Given the description of an element on the screen output the (x, y) to click on. 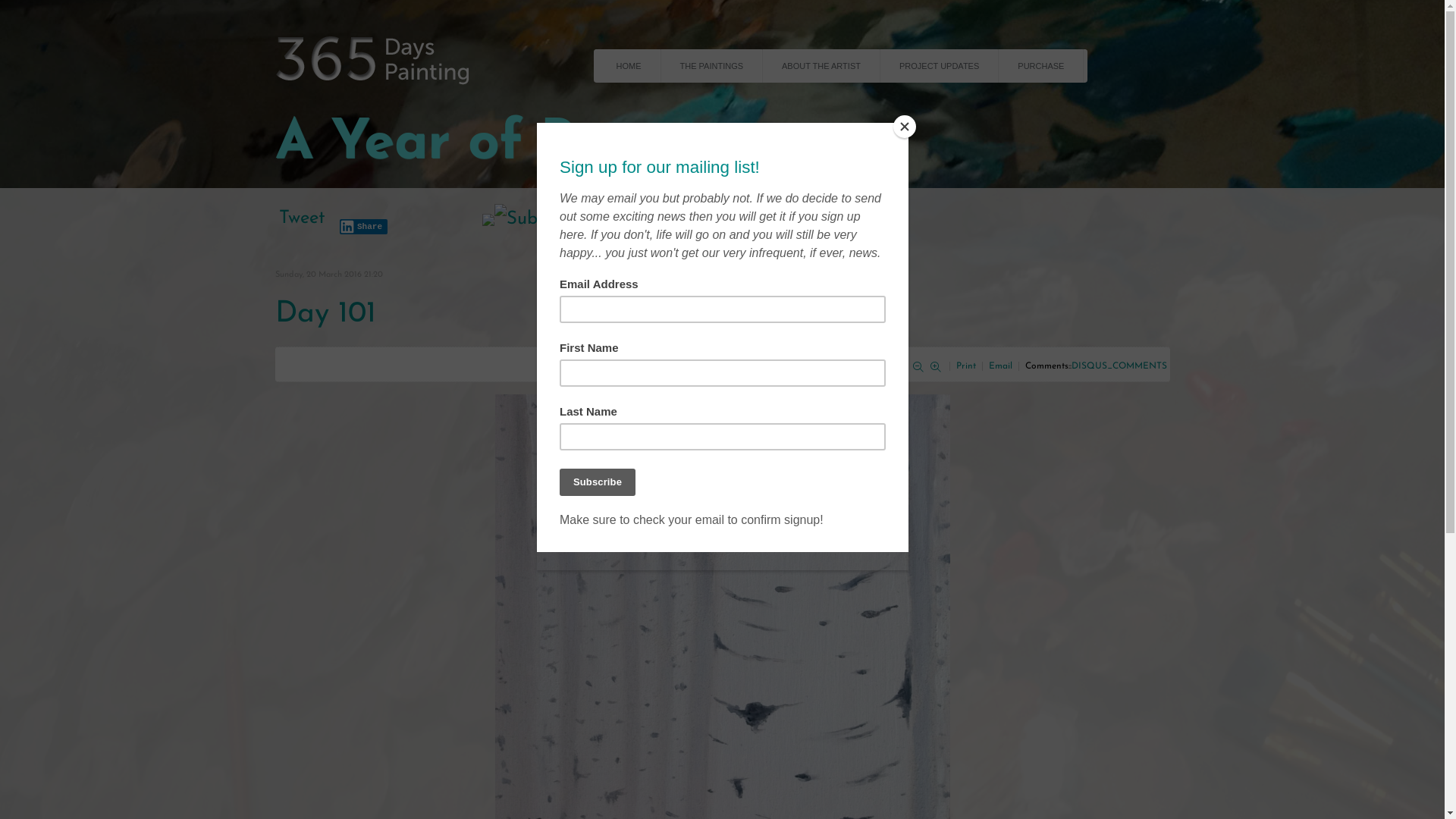
Share Element type: text (363, 226)
PURCHASE Element type: text (1040, 65)
HOME Element type: text (629, 65)
Share on Thumblr Element type: text (436, 214)
Click to preview image Element type: hover (721, 620)
THE PAINTINGS Element type: text (712, 65)
Email Element type: text (1001, 365)
ABOUT THE ARTIST Element type: text (821, 65)
Tweet Element type: text (302, 218)
Print Element type: text (966, 365)
DISQUS_COMMENTS Element type: text (1118, 365)
PROJECT UPDATES Element type: text (939, 65)
